Given the description of an element on the screen output the (x, y) to click on. 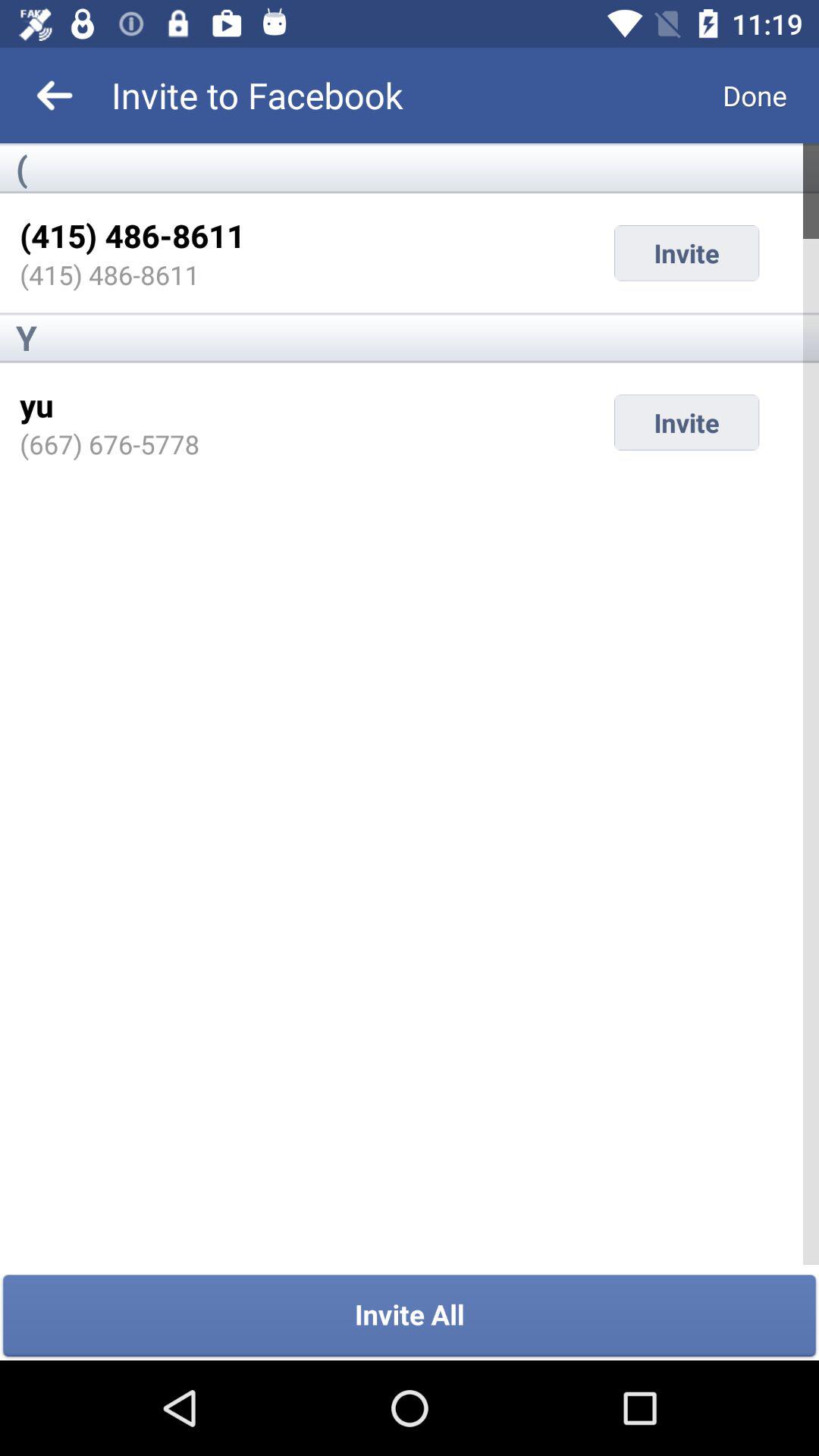
open icon above the (667) 676-5778 item (36, 404)
